Given the description of an element on the screen output the (x, y) to click on. 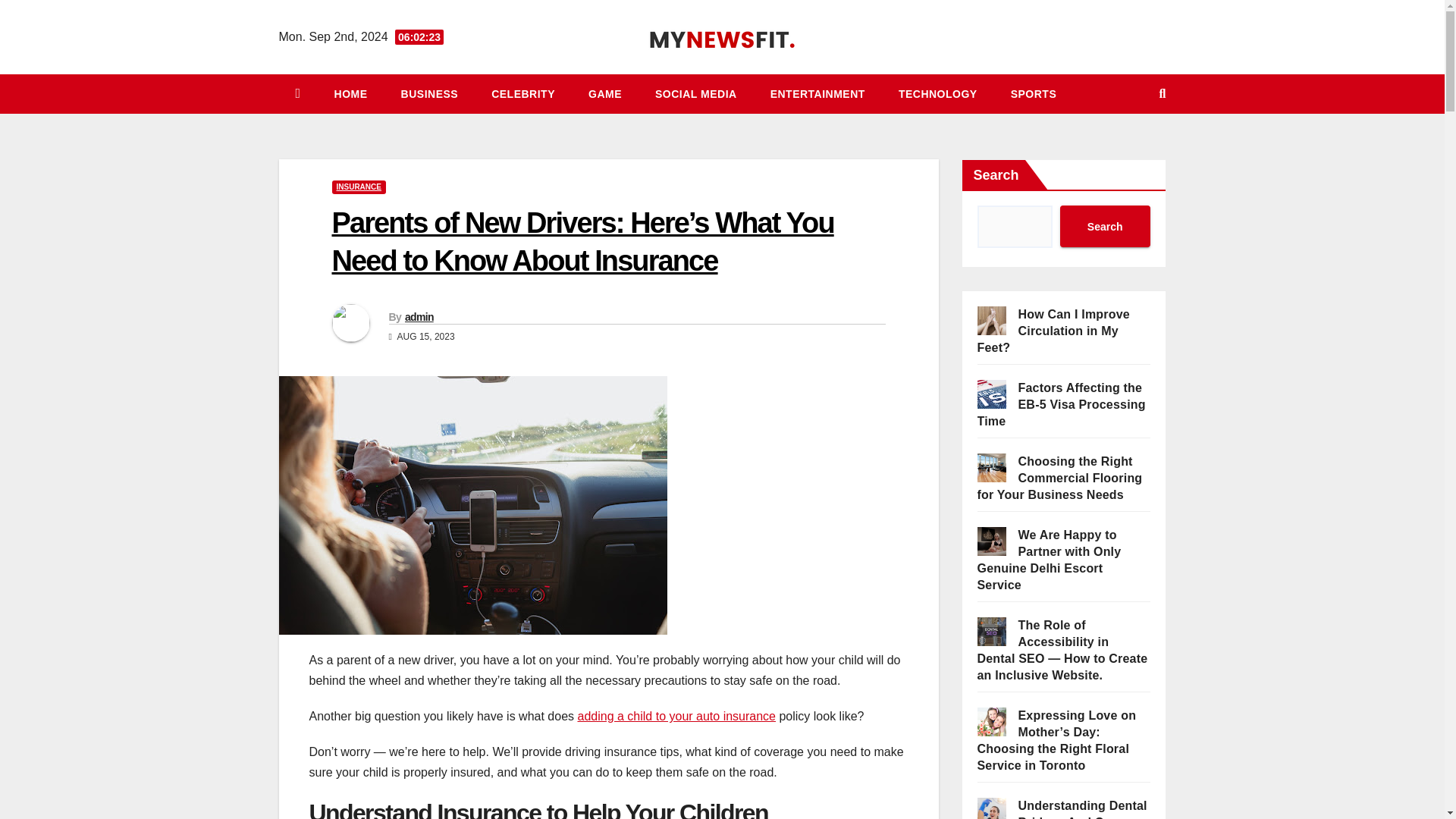
adding a child to your auto insurance (677, 716)
Social Media (696, 93)
INSURANCE (358, 187)
Home (350, 93)
Technology (938, 93)
ENTERTAINMENT (818, 93)
SOCIAL MEDIA (696, 93)
CELEBRITY (523, 93)
Entertainment (818, 93)
Game (605, 93)
